Given the description of an element on the screen output the (x, y) to click on. 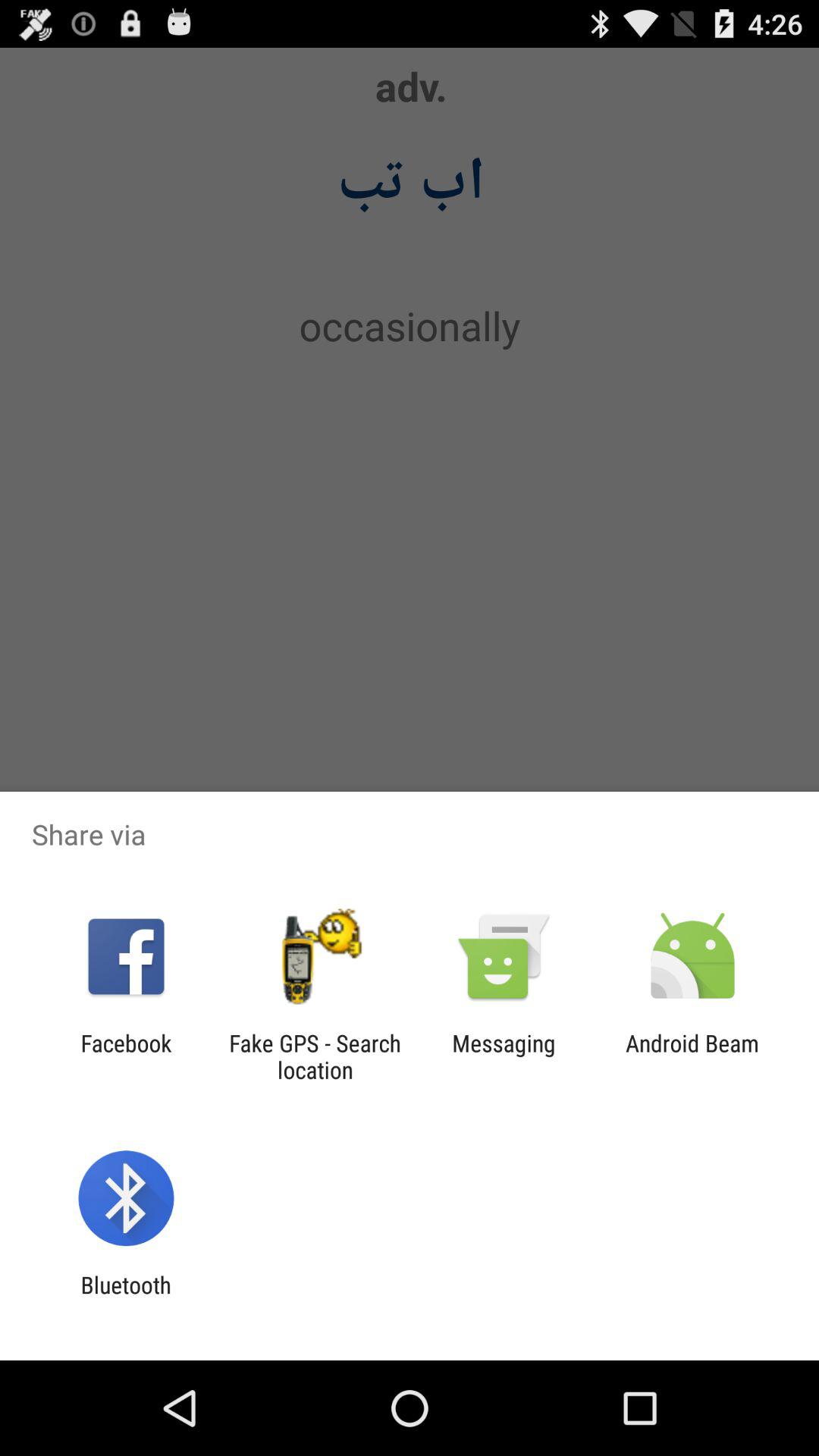
jump until the fake gps search (314, 1056)
